Given the description of an element on the screen output the (x, y) to click on. 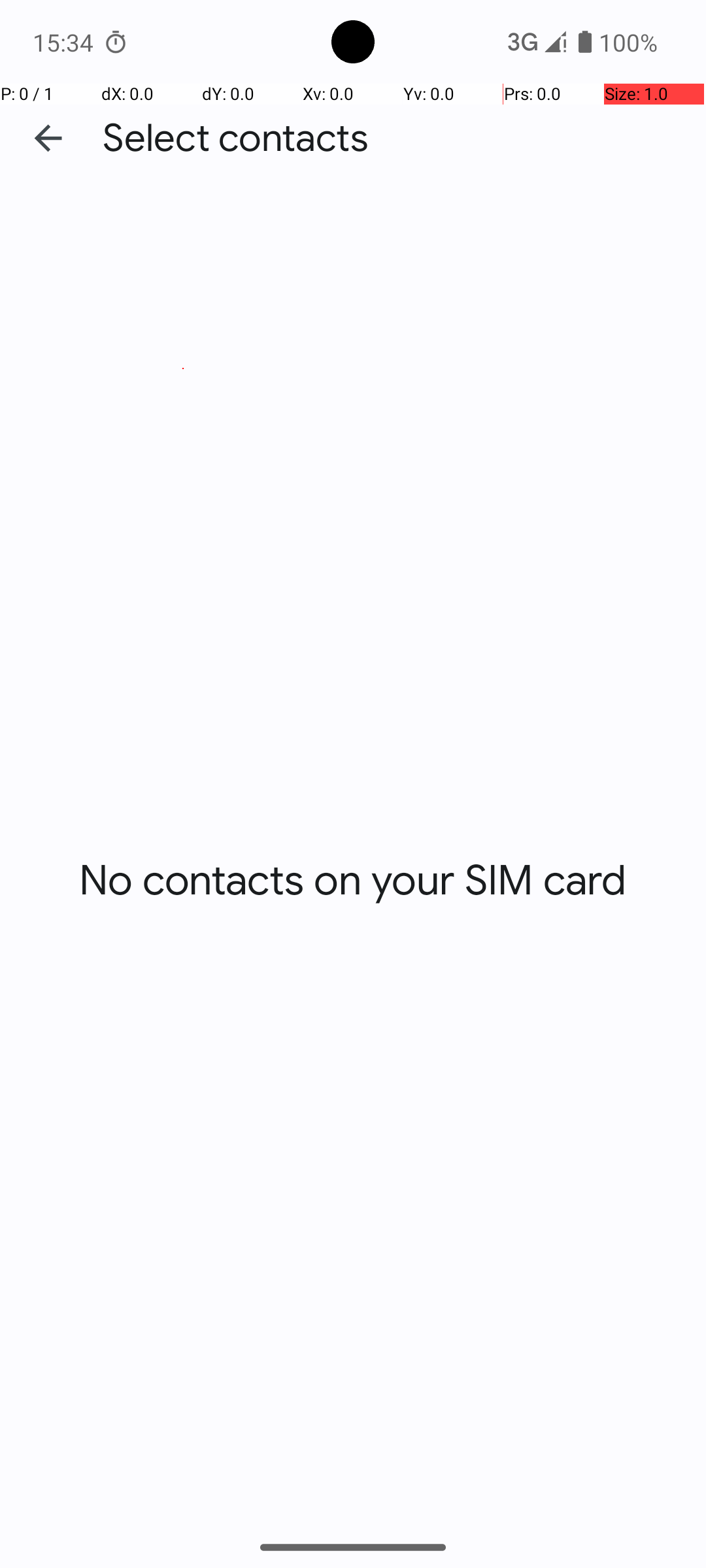
Select contacts Element type: android.widget.TextView (235, 138)
No contacts on your SIM card Element type: android.widget.TextView (352, 880)
